Given the description of an element on the screen output the (x, y) to click on. 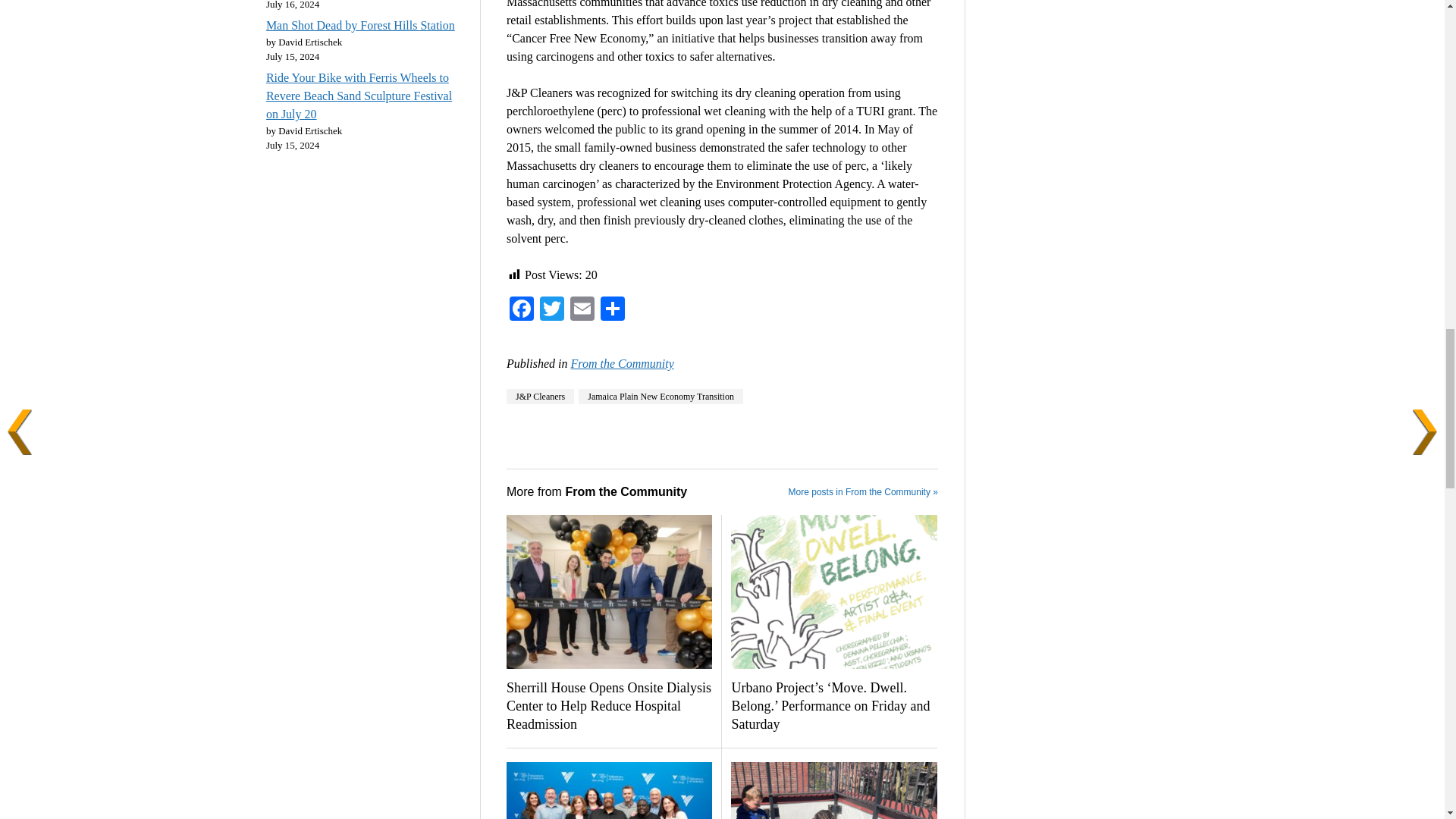
Email (581, 310)
View all posts in From the Community (621, 363)
Facebook (521, 310)
View all posts tagged Jamaica Plain New Economy Transition (660, 396)
Twitter (552, 310)
